Given the description of an element on the screen output the (x, y) to click on. 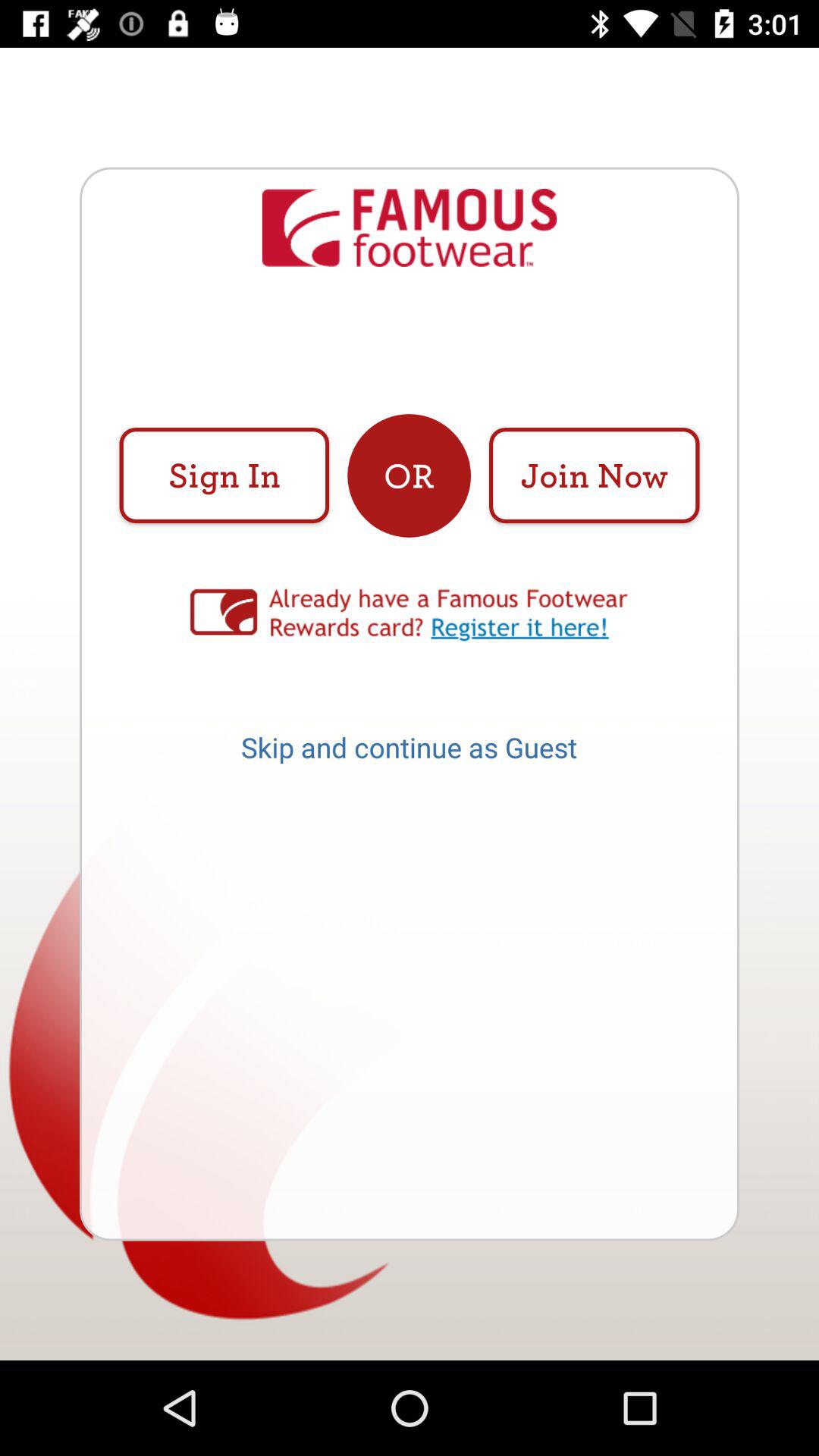
open item at the top right corner (594, 475)
